Given the description of an element on the screen output the (x, y) to click on. 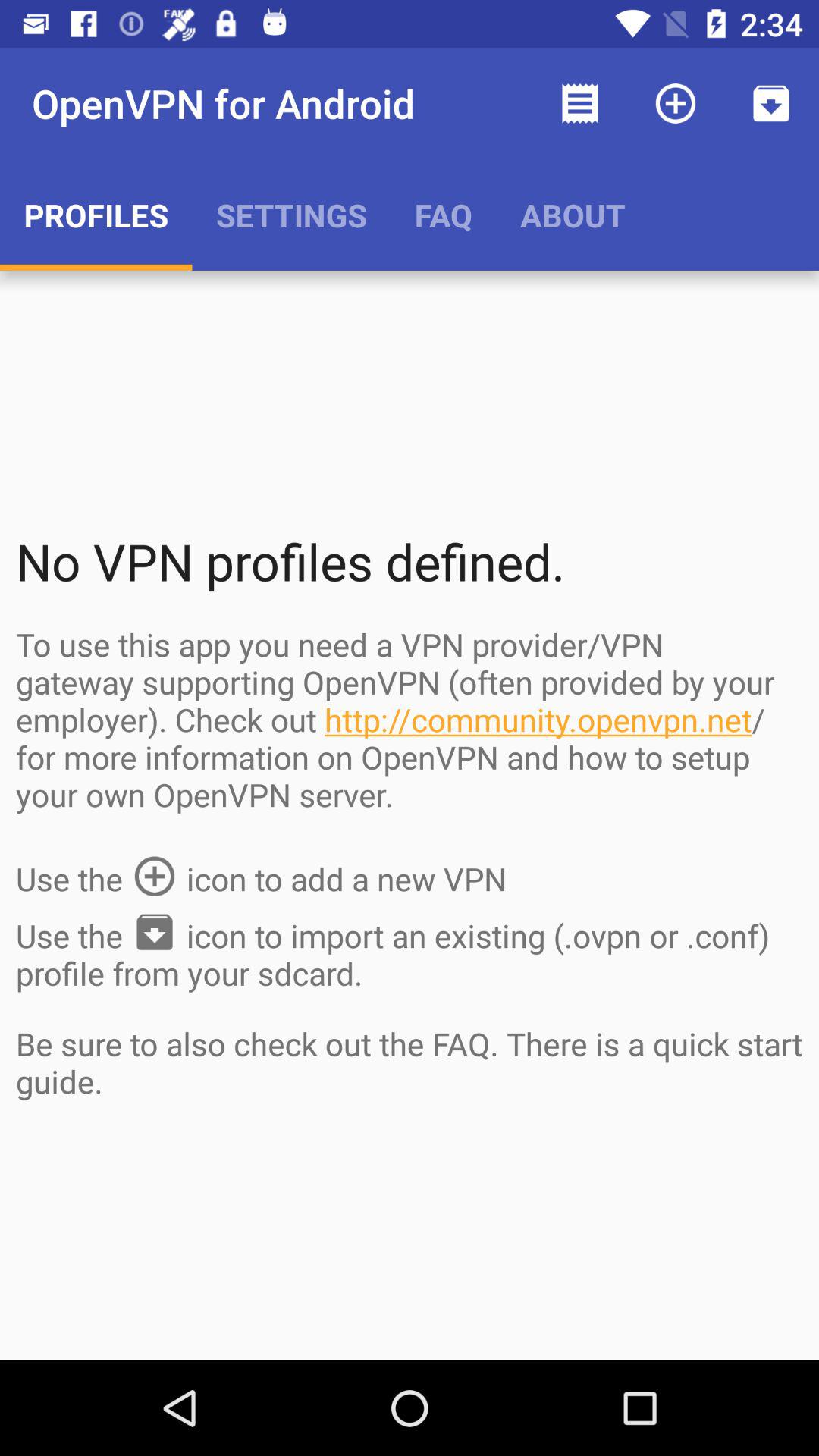
jump to about item (572, 214)
